Given the description of an element on the screen output the (x, y) to click on. 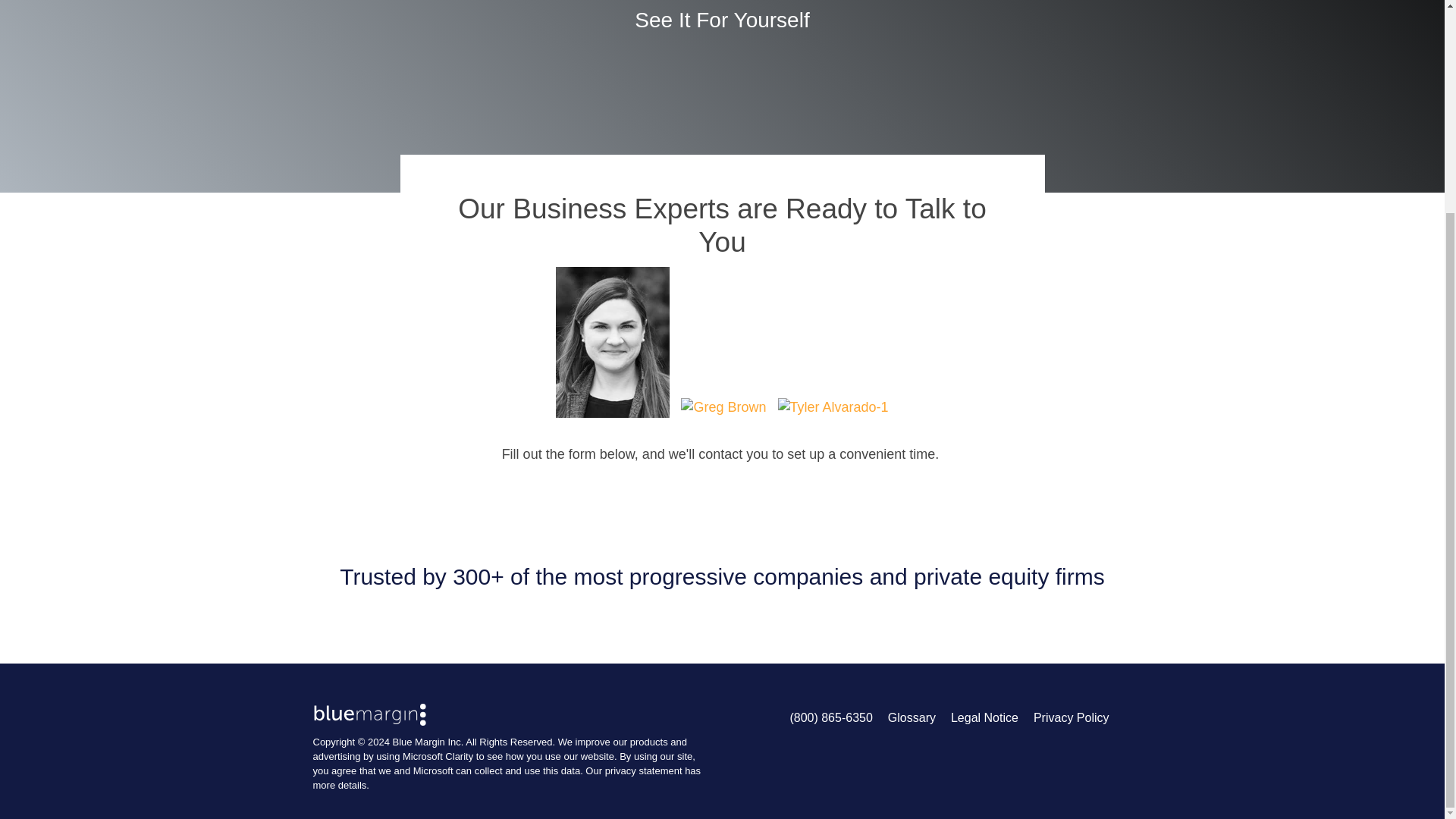
Blue Margin All White Horizontal (369, 714)
